Given the description of an element on the screen output the (x, y) to click on. 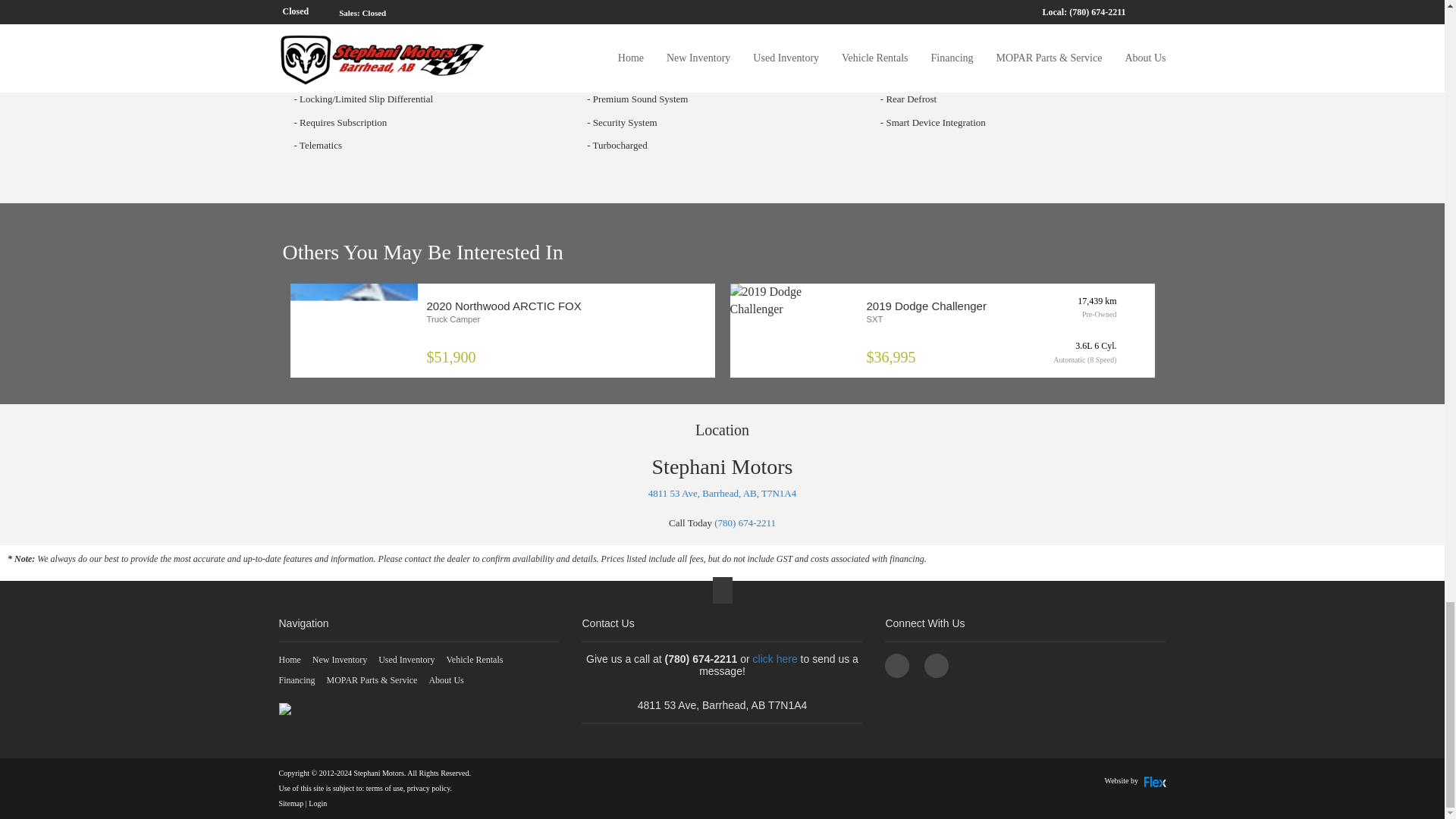
2019 Dodge Challenger (793, 300)
2020 Northwood ARCTIC FOX (352, 331)
Click to see what Flex can do for you (1135, 780)
Twitter (936, 665)
Facebook (896, 665)
